Given the description of an element on the screen output the (x, y) to click on. 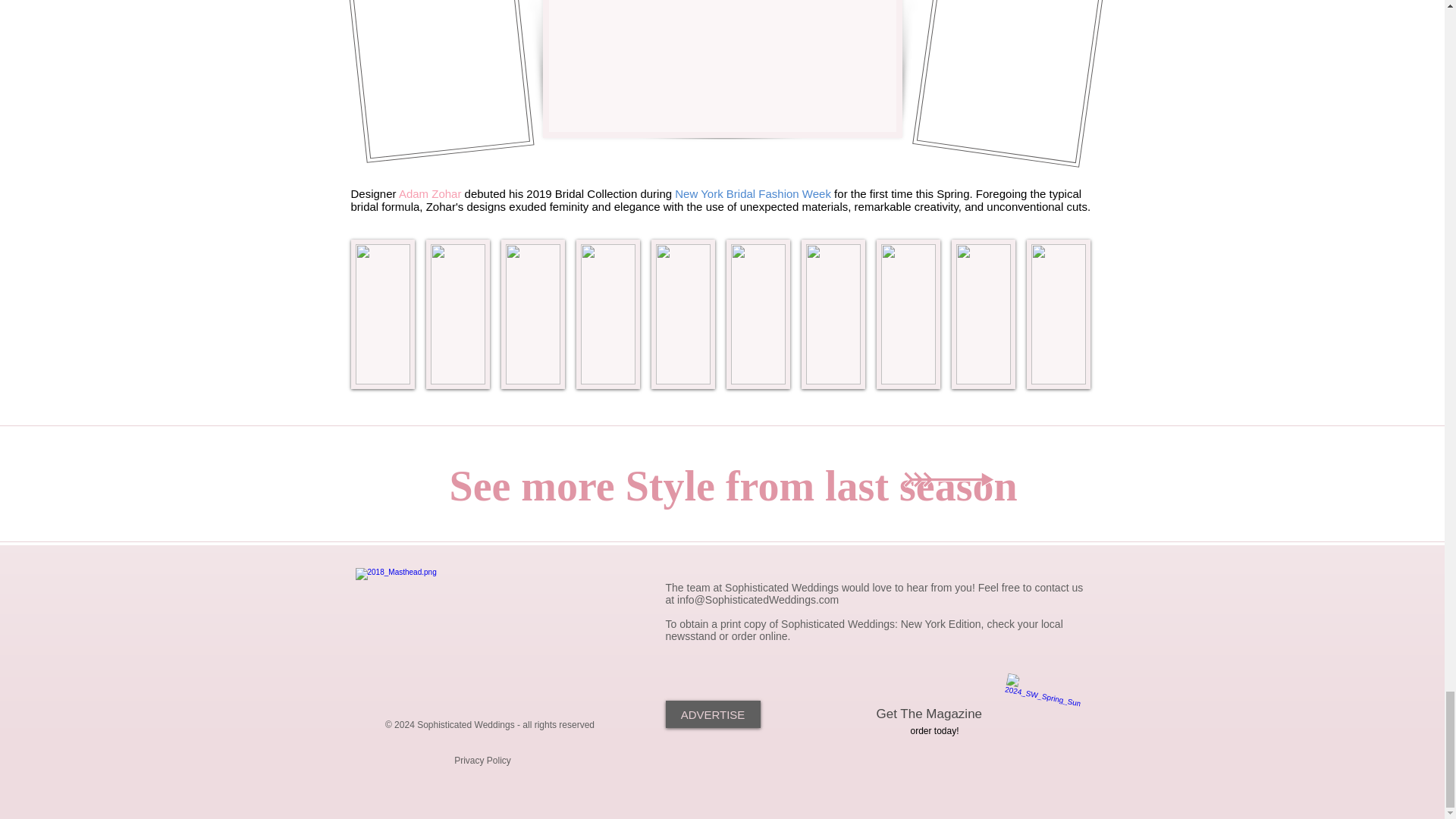
Privacy Policy (483, 759)
See more Style from last season (732, 485)
order today! (934, 730)
ADVERTISE (712, 714)
